Given the description of an element on the screen output the (x, y) to click on. 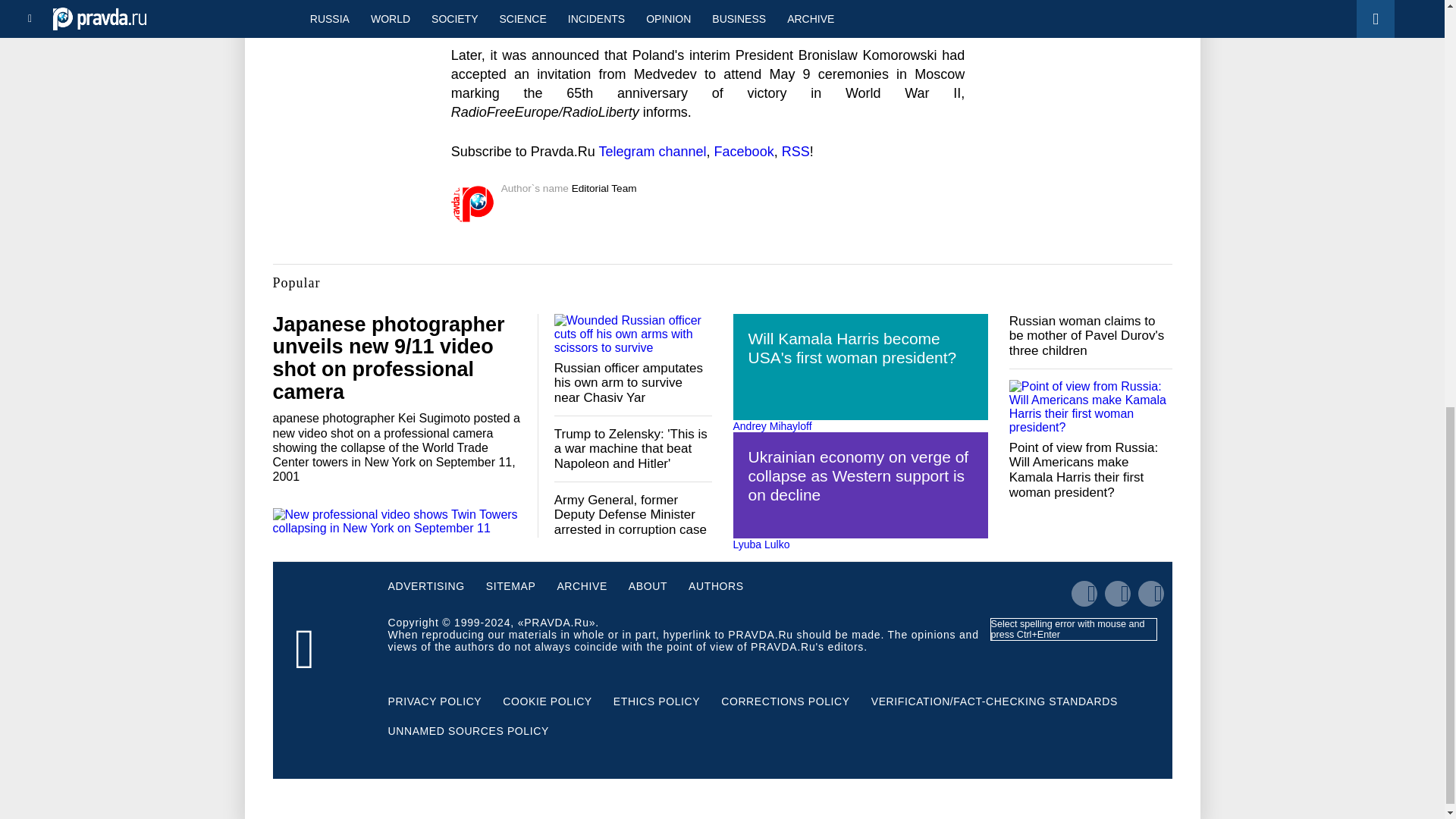
RSS (795, 151)
Back to top (1418, 79)
Telegram channel (652, 151)
Editorial Team (604, 188)
Facebook (744, 151)
Ukraine loses another Abrams tank in special operation zone (348, 4)
